Given the description of an element on the screen output the (x, y) to click on. 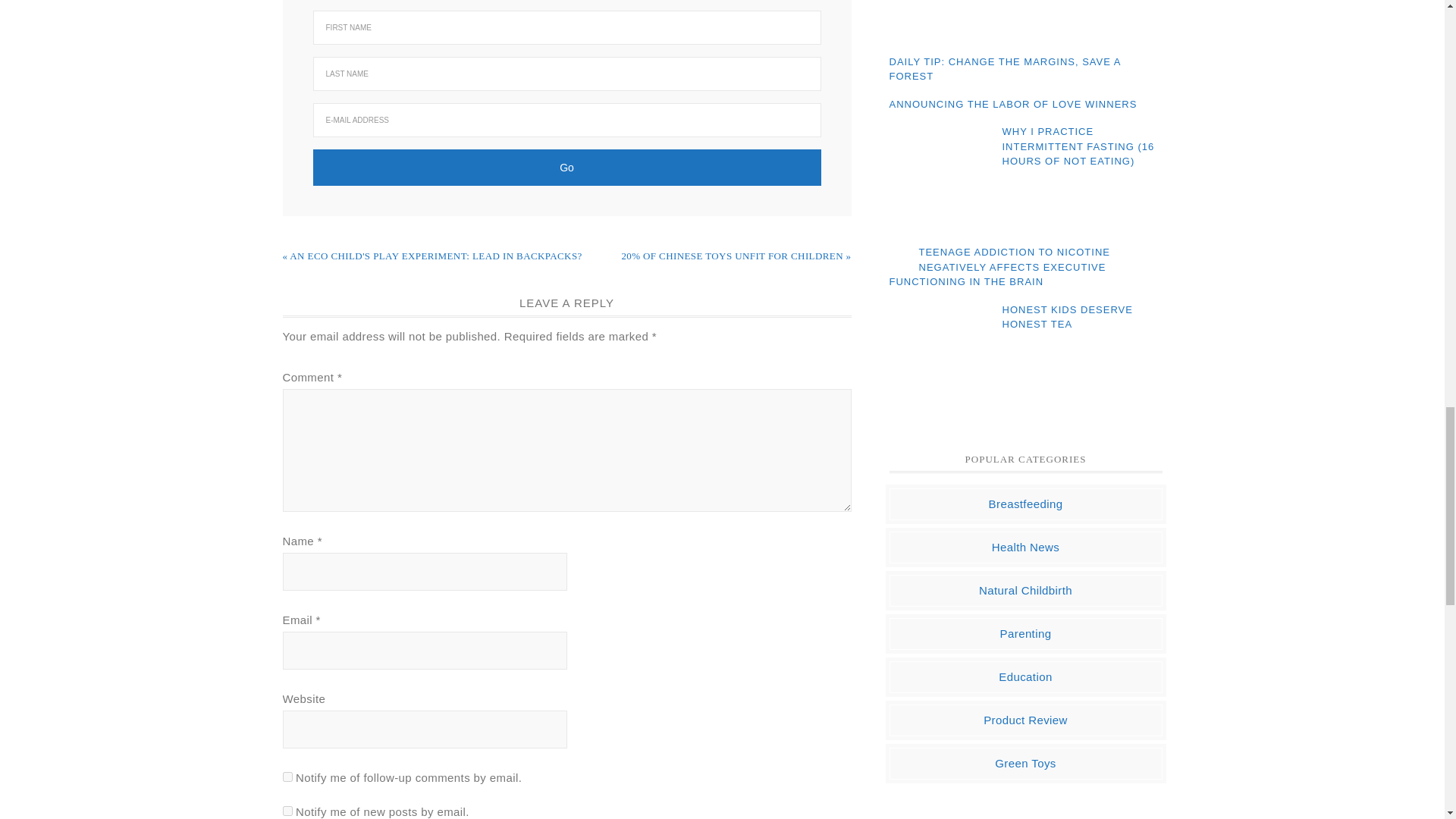
Go (567, 167)
subscribe (287, 810)
Go (567, 167)
subscribe (287, 777)
